Given the description of an element on the screen output the (x, y) to click on. 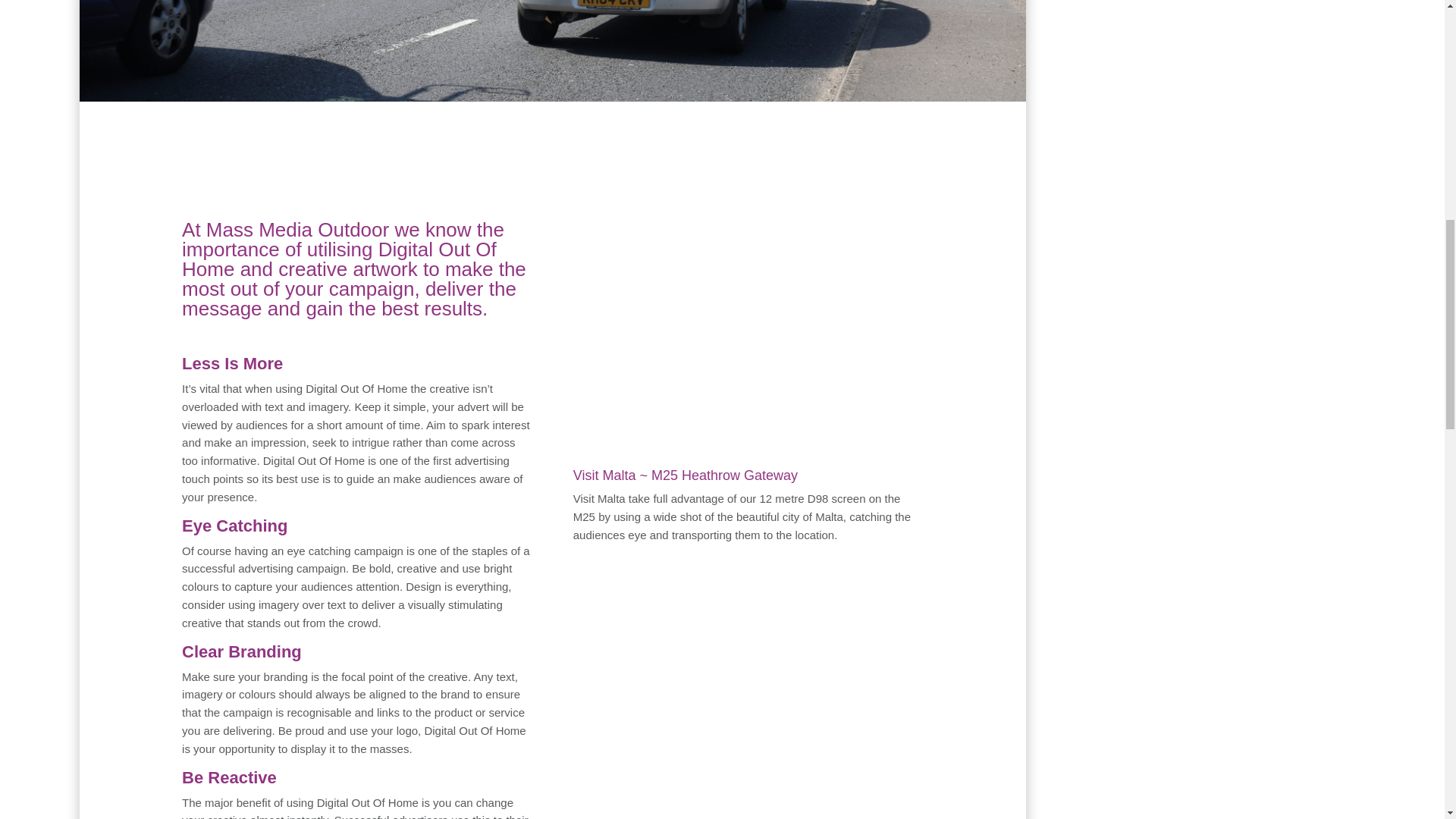
A33 CT1 EU (553, 50)
